Given the description of an element on the screen output the (x, y) to click on. 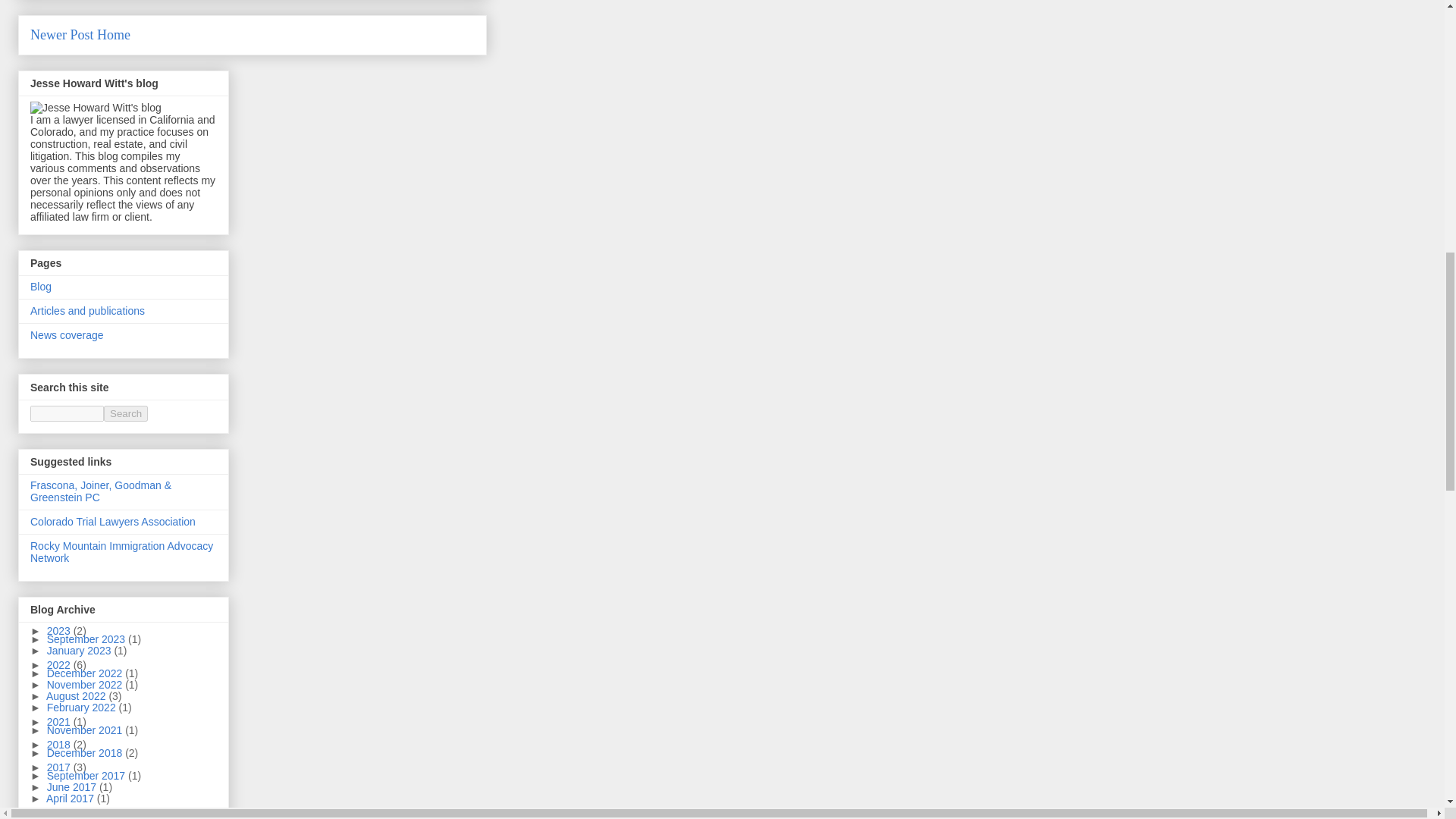
Search (125, 413)
Blog (40, 286)
search (125, 413)
Articles and publications (87, 310)
January 2023 (80, 650)
News coverage (66, 335)
Rocky Mountain Immigration Advocacy Network (121, 551)
Newer Post (62, 34)
search (66, 413)
2021 (60, 721)
2023 (60, 630)
December 2022 (85, 673)
August 2022 (77, 695)
February 2022 (82, 707)
Search (125, 413)
